Given the description of an element on the screen output the (x, y) to click on. 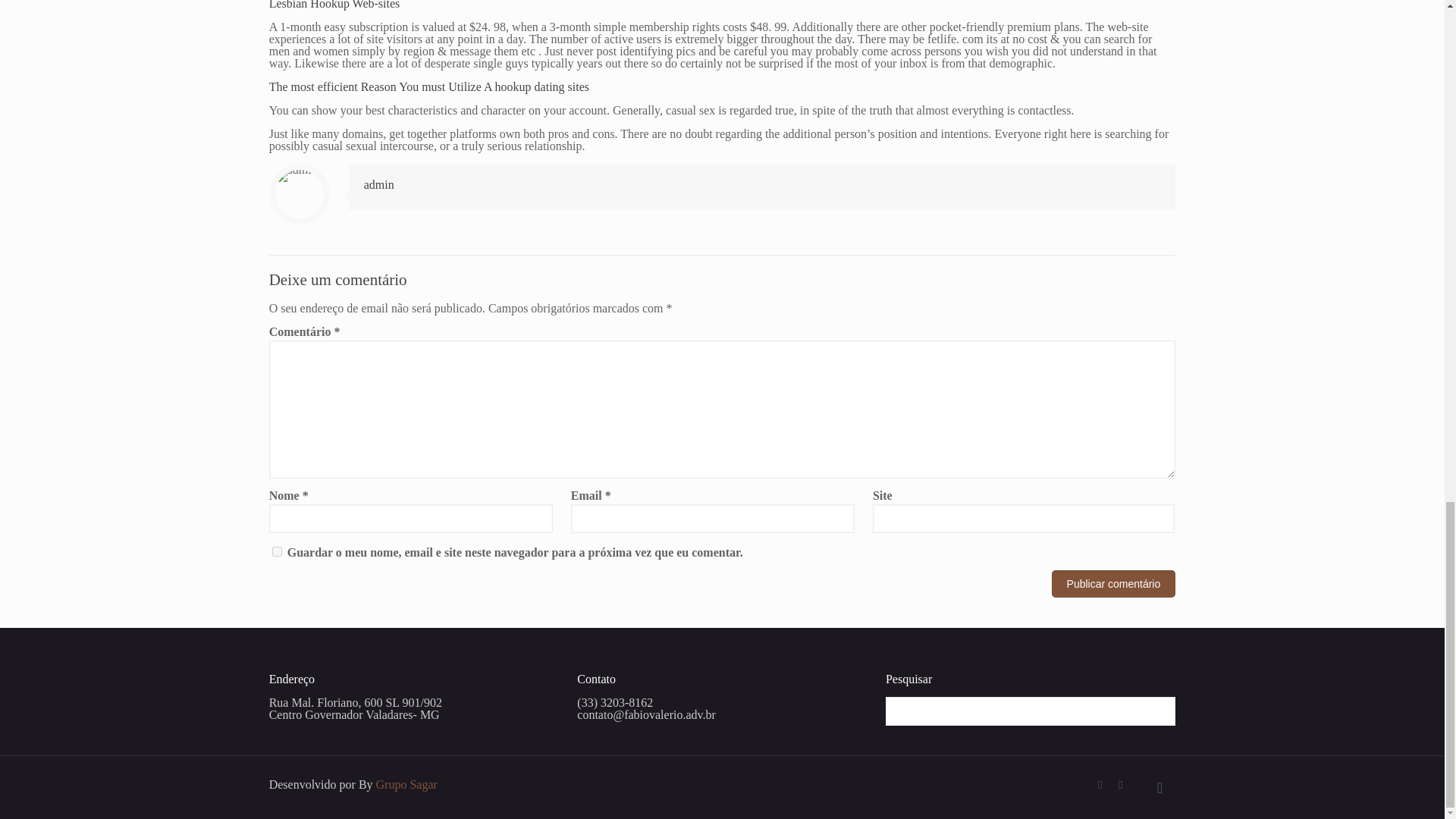
Facebook (1100, 784)
LinkedIn (1120, 784)
Grupo Sagar (406, 784)
admin (379, 184)
yes (277, 551)
